Given the description of an element on the screen output the (x, y) to click on. 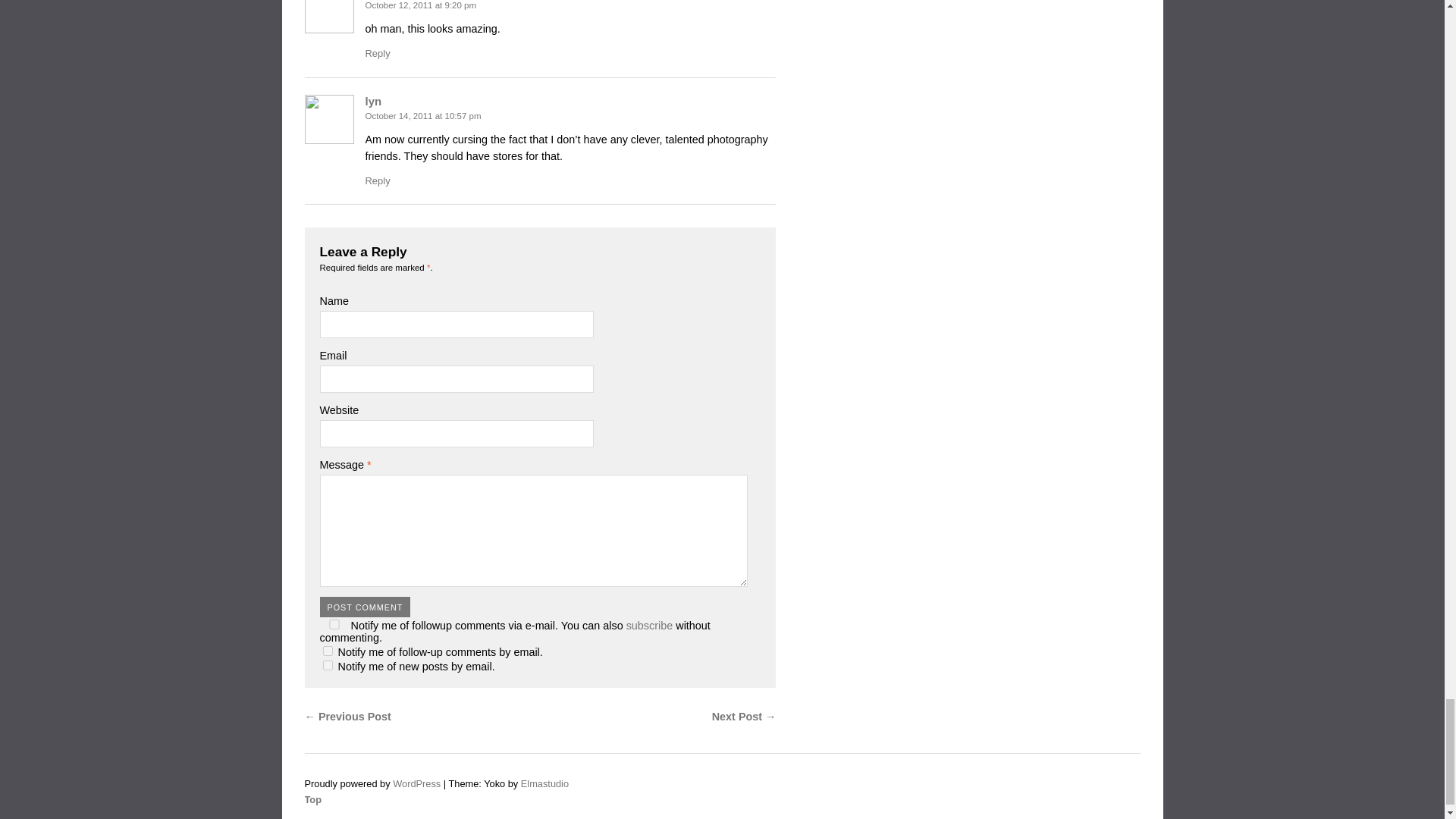
Post Comment (365, 607)
subscribe (328, 651)
yes (334, 624)
subscribe (328, 665)
